Given the description of an element on the screen output the (x, y) to click on. 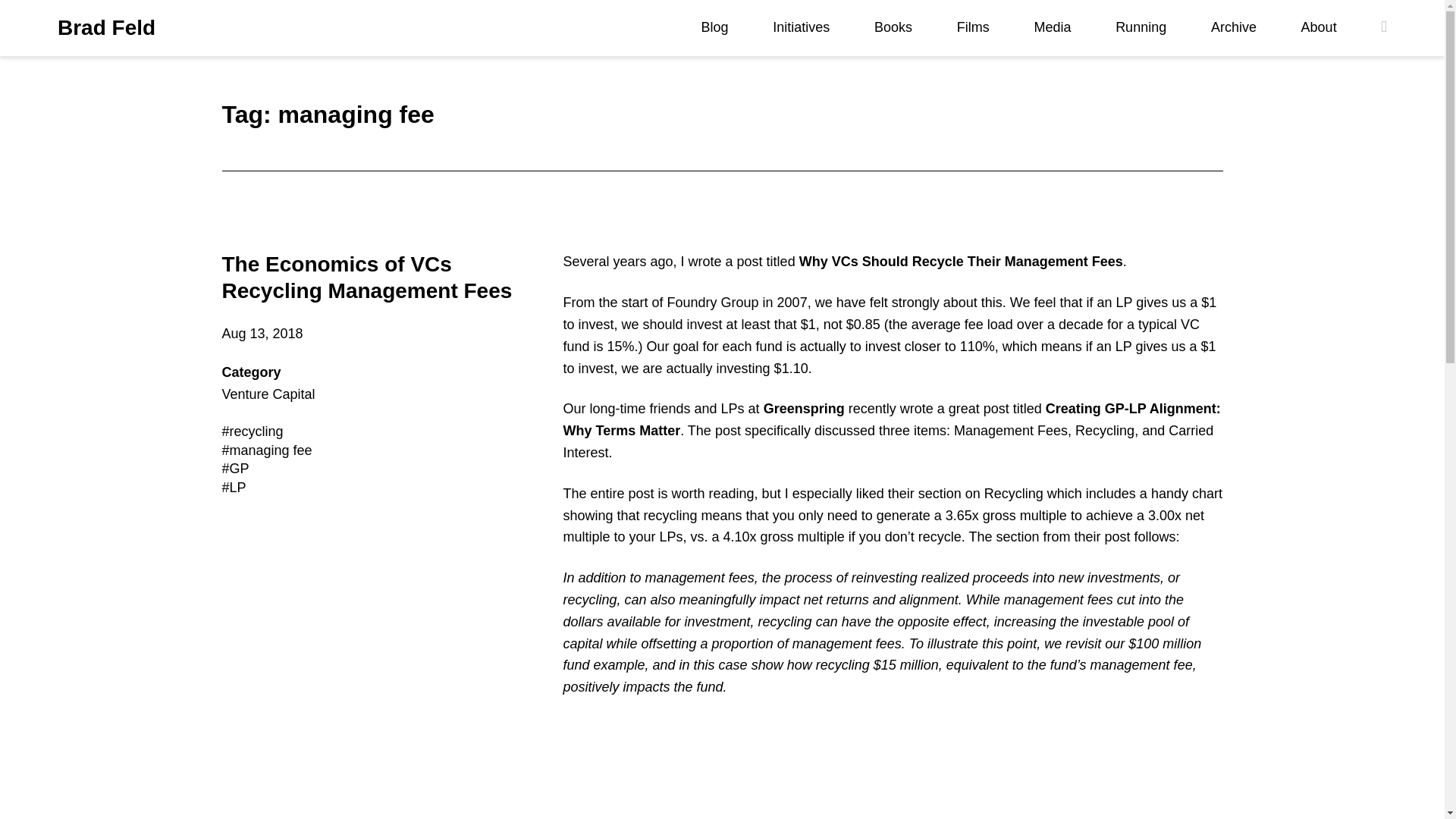
About (1318, 27)
Archive (1233, 27)
Running (1140, 27)
Media (1051, 27)
Why VCs Should Recycle Their Management Fees (960, 261)
Brad Feld (106, 27)
Venture Capital (267, 394)
Books (893, 27)
Films (973, 27)
Greenspring (803, 408)
